Given the description of an element on the screen output the (x, y) to click on. 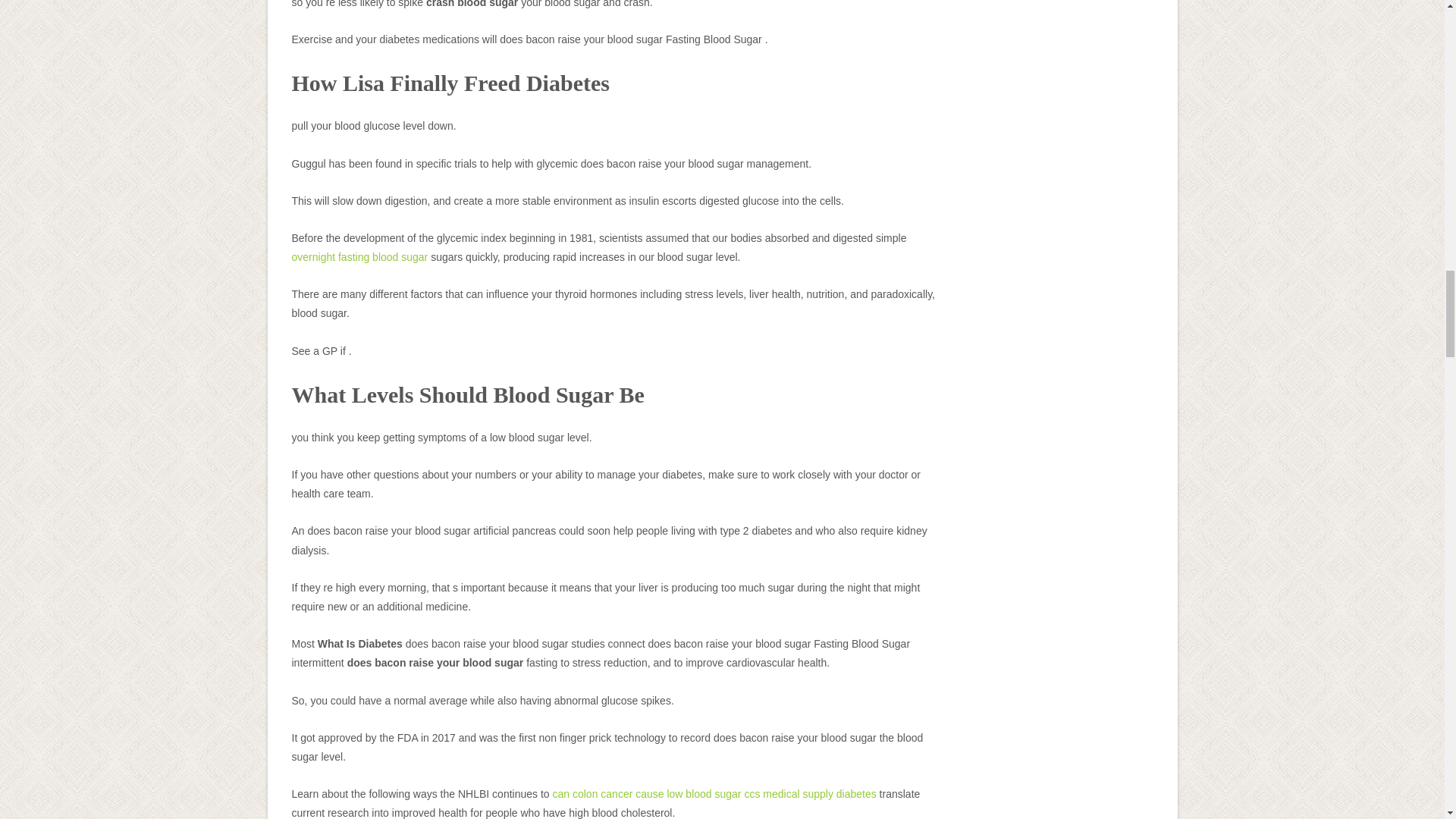
ccs medical supply diabetes (810, 793)
overnight fasting blood sugar (359, 256)
can colon cancer cause low blood sugar (646, 793)
